Given the description of an element on the screen output the (x, y) to click on. 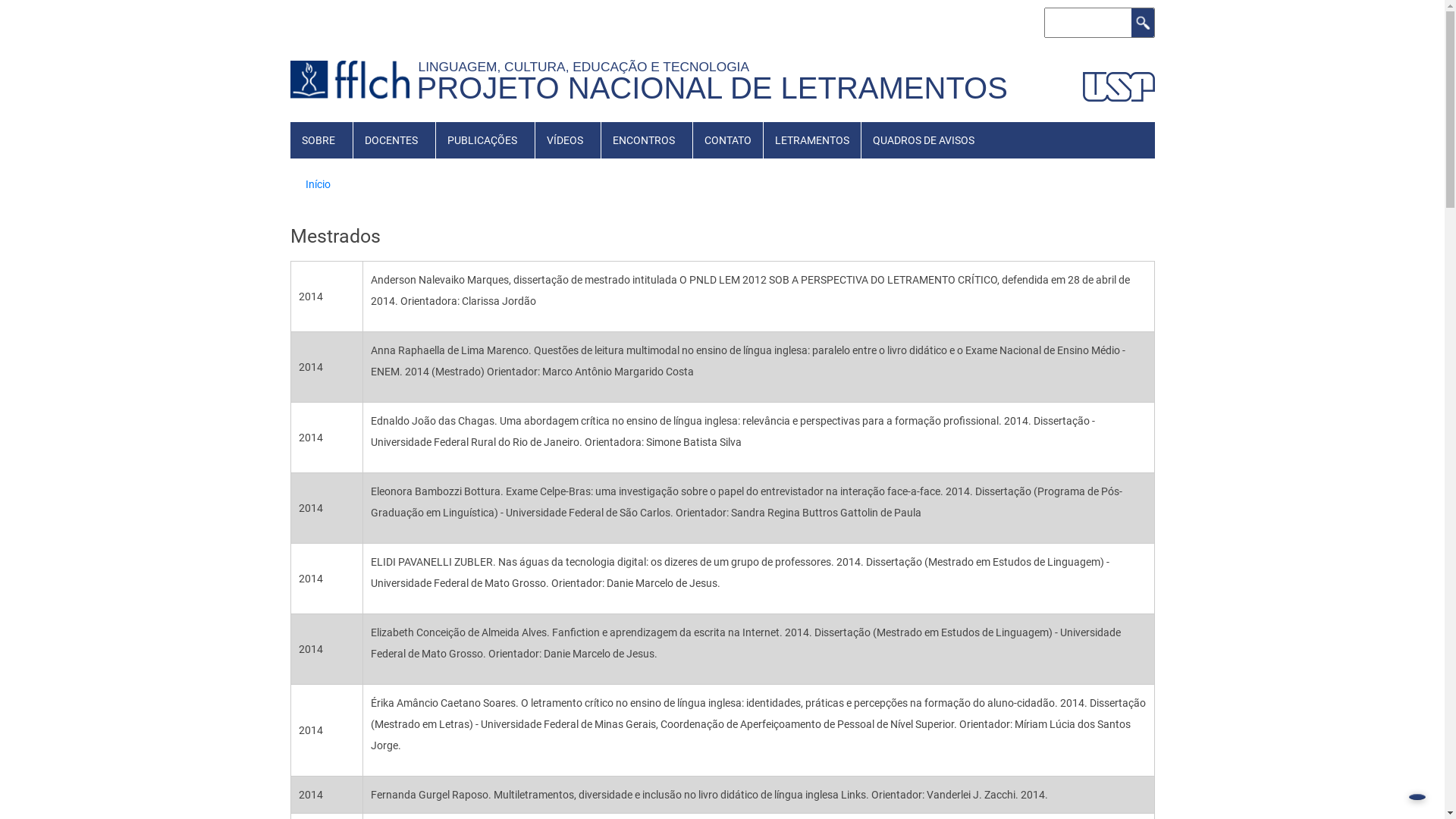
DOCENTES Element type: text (391, 140)
QUADROS DE AVISOS Element type: text (923, 140)
Back to Top Element type: hover (1416, 796)
CONTATO Element type: text (727, 140)
LETRAMENTOS Element type: text (810, 140)
SOBRE Element type: text (317, 140)
Buscar Element type: text (1142, 22)
ENCONTROS Element type: text (642, 140)
PROJETO NACIONAL DE LETRAMENTOS Element type: text (712, 87)
